Given the description of an element on the screen output the (x, y) to click on. 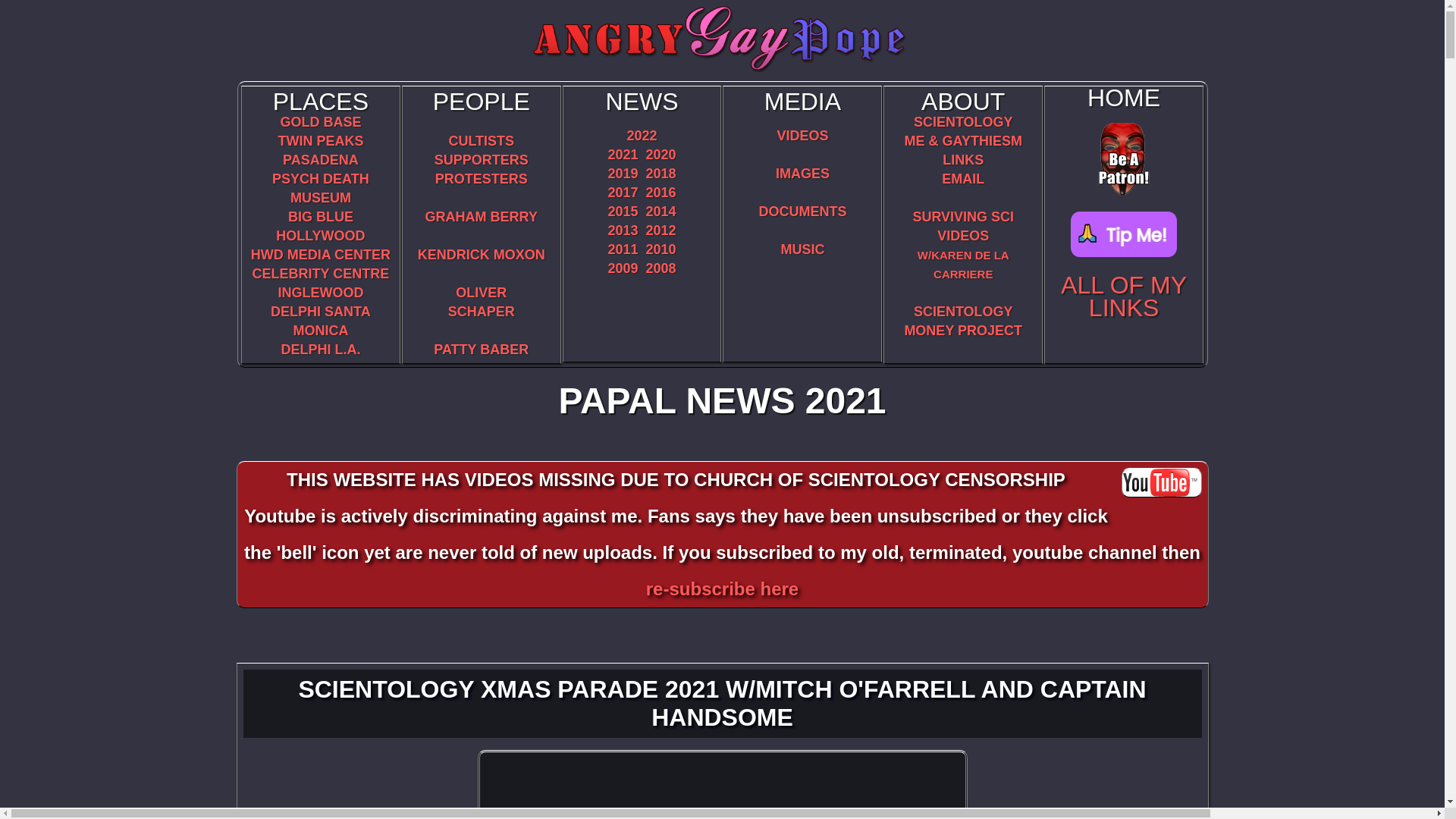
2020 (661, 154)
2010 (661, 249)
CULTISTS (480, 140)
PROTESTERS (481, 178)
DELPHI SANTA MONICA (320, 320)
2014 (481, 302)
VIDEOS (661, 211)
NEWS (802, 135)
MEDIA (641, 101)
2012 (802, 101)
GRAHAM BERRY (661, 230)
2016 (481, 216)
HWD MEDIA CENTER (661, 192)
2018 (320, 254)
